Given the description of an element on the screen output the (x, y) to click on. 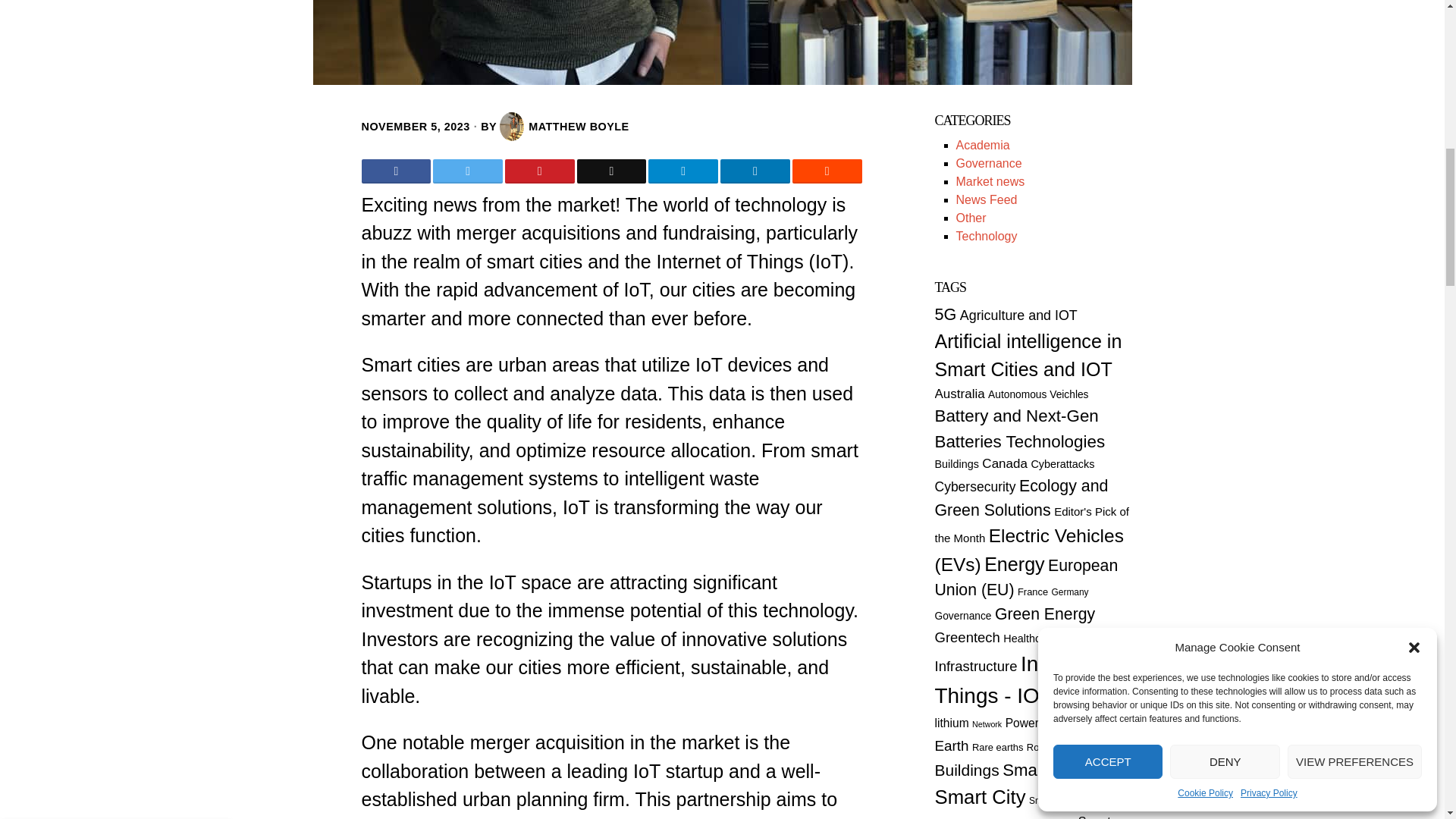
05 Nov, 2023 15:47:23 (414, 126)
MATTHEW BOYLE (563, 126)
